Given the description of an element on the screen output the (x, y) to click on. 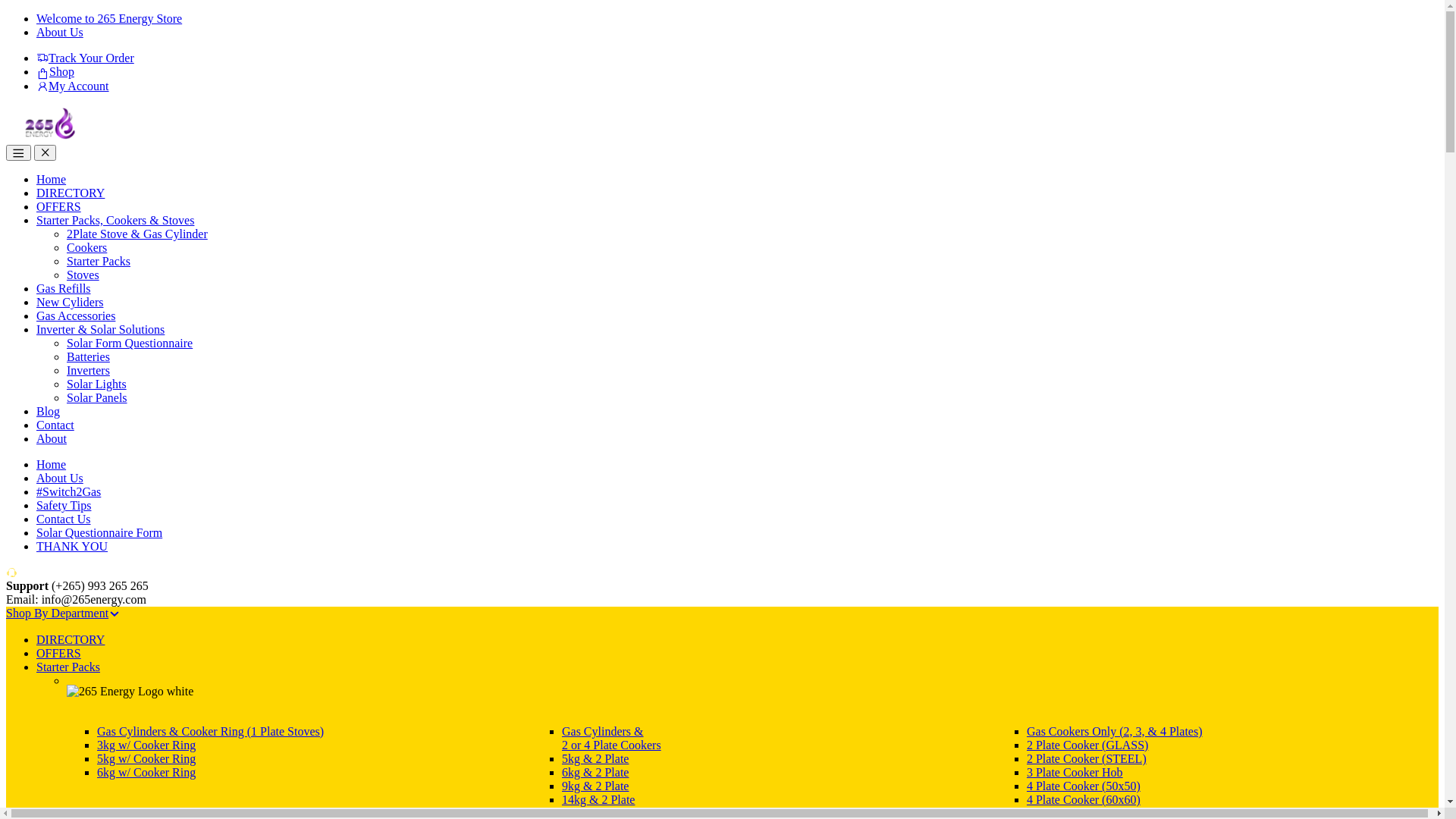
Safety Tips Element type: text (63, 504)
Home Element type: text (50, 178)
Welcome to 265 Energy Store Element type: text (109, 18)
Starter Packs, Cookers & Stoves Element type: text (115, 219)
9kg & 2 Plate Element type: text (594, 785)
Starter Packs Element type: text (68, 666)
Batteries Element type: text (87, 356)
About Element type: text (51, 438)
14kg & 2 Plate Element type: text (597, 799)
2 Plate Cooker (STEEL) Element type: text (1086, 758)
3 Plate Cooker Hob Element type: text (1074, 771)
DIRECTORY Element type: text (70, 192)
Home Element type: text (50, 464)
Blog Element type: text (47, 410)
Inverters Element type: text (87, 370)
Gas Cookers Only (2, 3, & 4 Plates) Element type: text (1114, 730)
5kg & 2 Plate Element type: text (594, 758)
Gas Cylinders &
2 or 4 Plate Cookers Element type: text (611, 737)
Skip to navigation Element type: text (5, 11)
Contact Us Element type: text (63, 518)
Solar Questionnaire Form Element type: text (99, 532)
My Account Element type: text (72, 85)
Starter Packs Element type: text (98, 260)
#Switch2Gas Element type: text (68, 491)
4 Plate Cooker (50x50) Element type: text (1083, 785)
Shop Element type: text (55, 71)
Gas Refills Element type: text (63, 288)
Solar Lights Element type: text (96, 383)
Shop By Department Element type: text (63, 612)
Solar Panels Element type: text (96, 397)
2 Plate Cooker (GLASS) Element type: text (1087, 744)
OFFERS Element type: text (58, 206)
Contact Element type: text (55, 424)
Track Your Order Element type: text (85, 57)
Solar Form Questionnaire Element type: text (129, 342)
New Cyliders Element type: text (69, 301)
THANK YOU Element type: text (71, 545)
About Us Element type: text (59, 31)
Inverter & Solar Solutions Element type: text (100, 329)
5kg w/ Cooker Ring Element type: text (146, 758)
Gas Cylinders & Cooker Ring (1 Plate Stoves) Element type: text (210, 730)
2Plate Stove & Gas Cylinder Element type: text (136, 233)
Gas Accessories Element type: text (75, 315)
3kg w/ Cooker Ring Element type: text (146, 744)
About Us Element type: text (59, 477)
6kg w/ Cooker Ring Element type: text (146, 771)
Cookers Element type: text (86, 247)
Stoves Element type: text (82, 274)
4 Plate Cooker (60x60) Element type: text (1083, 799)
OFFERS Element type: text (58, 652)
6kg & 2 Plate Element type: text (594, 771)
DIRECTORY Element type: text (70, 639)
